Given the description of an element on the screen output the (x, y) to click on. 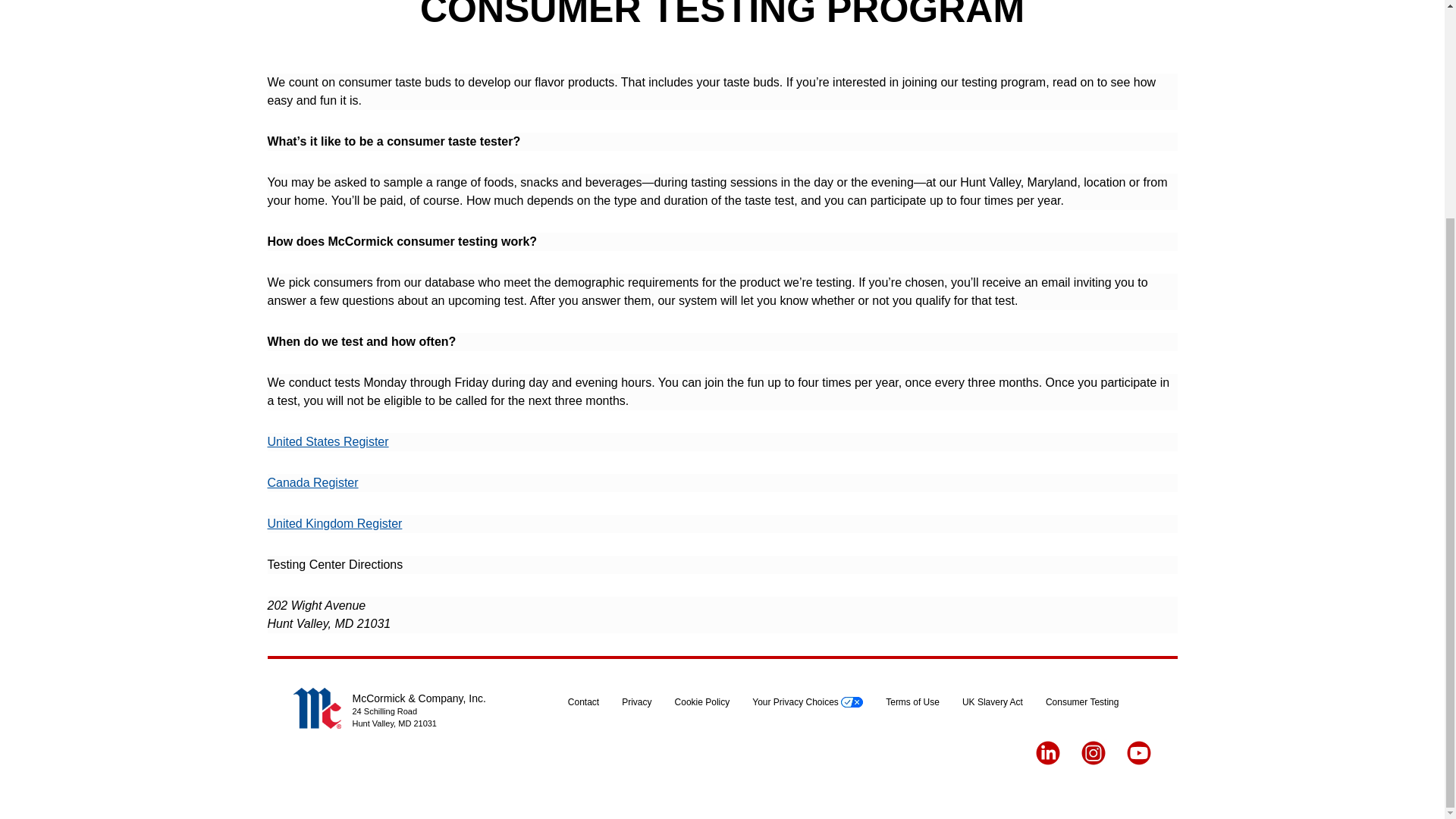
YouTube (1139, 752)
LinkedIn (1047, 752)
Footer Logo (316, 707)
Instagram (1093, 752)
